Given the description of an element on the screen output the (x, y) to click on. 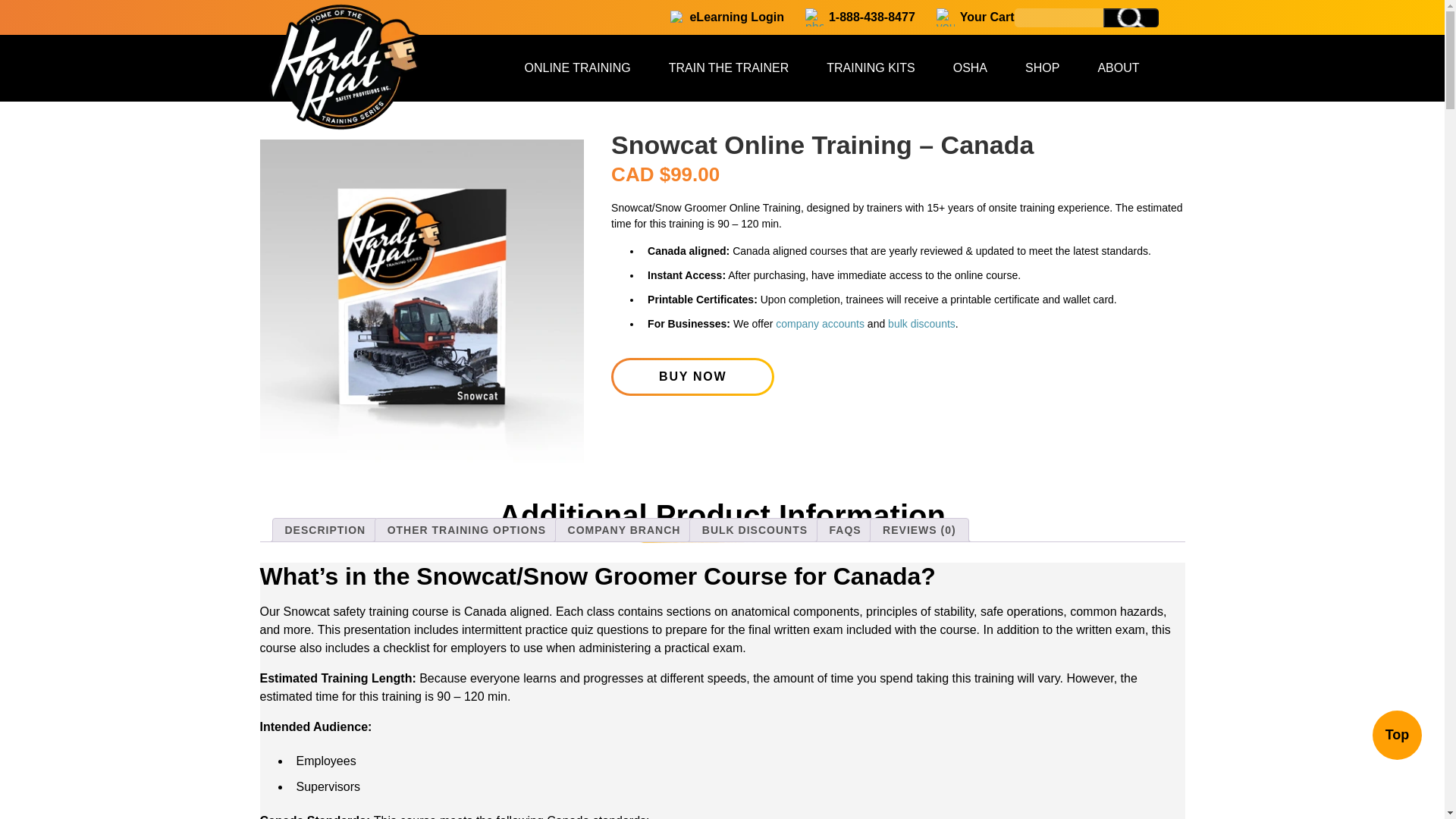
ABOUT (1126, 67)
eLearning Login (716, 19)
Top (1397, 735)
Search (1130, 16)
TRAIN THE TRAINER (736, 67)
TRAINING KITS (877, 67)
ONLINE TRAINING (585, 67)
Snowcat-Training-Construction-Safety-Training (421, 301)
OSHA (977, 67)
Search (1130, 16)
Scroll to the top (1397, 735)
1-888-438-8477 (849, 19)
Your Cart (964, 19)
SHOP (1049, 67)
